Given the description of an element on the screen output the (x, y) to click on. 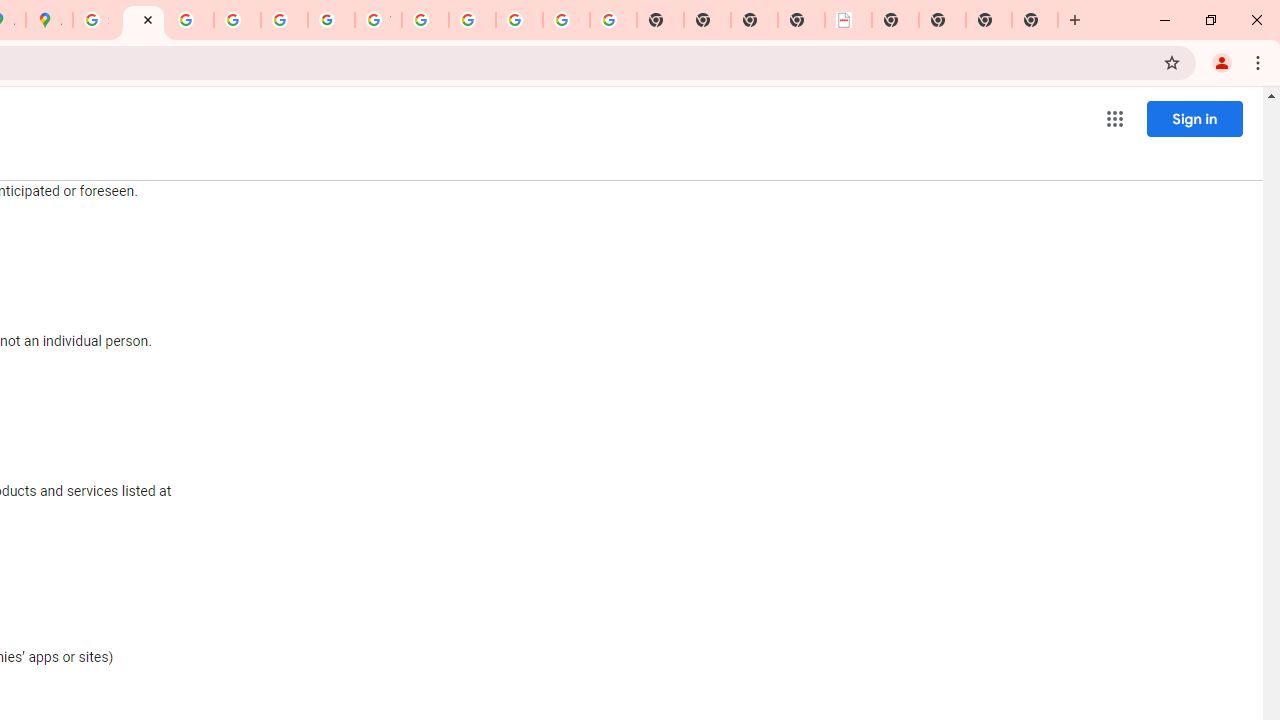
Google apps (1114, 118)
Browse Chrome as a guest - Computer - Google Chrome Help (425, 20)
Privacy Help Center - Policies Help (189, 20)
YouTube (377, 20)
